Given the description of an element on the screen output the (x, y) to click on. 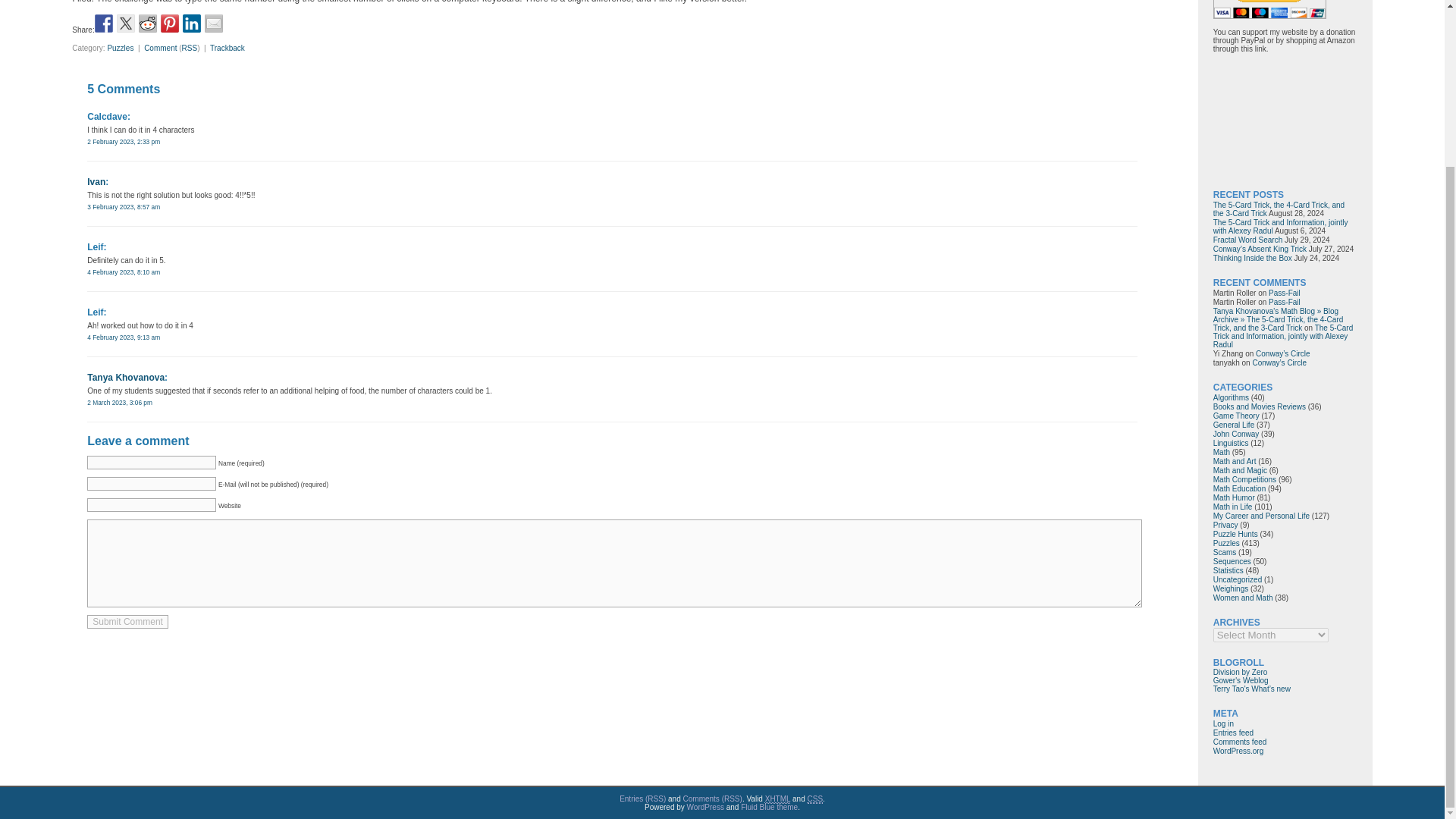
Share on Linkedin (191, 23)
Game Theory (1235, 415)
General Life (1232, 424)
Puzzles (119, 48)
Comment (160, 48)
2 March 2023, 3:06 pm (119, 402)
Share on Reddit (147, 23)
Tanya Khovanova (125, 377)
Share by email (213, 23)
RSS (190, 48)
